Given the description of an element on the screen output the (x, y) to click on. 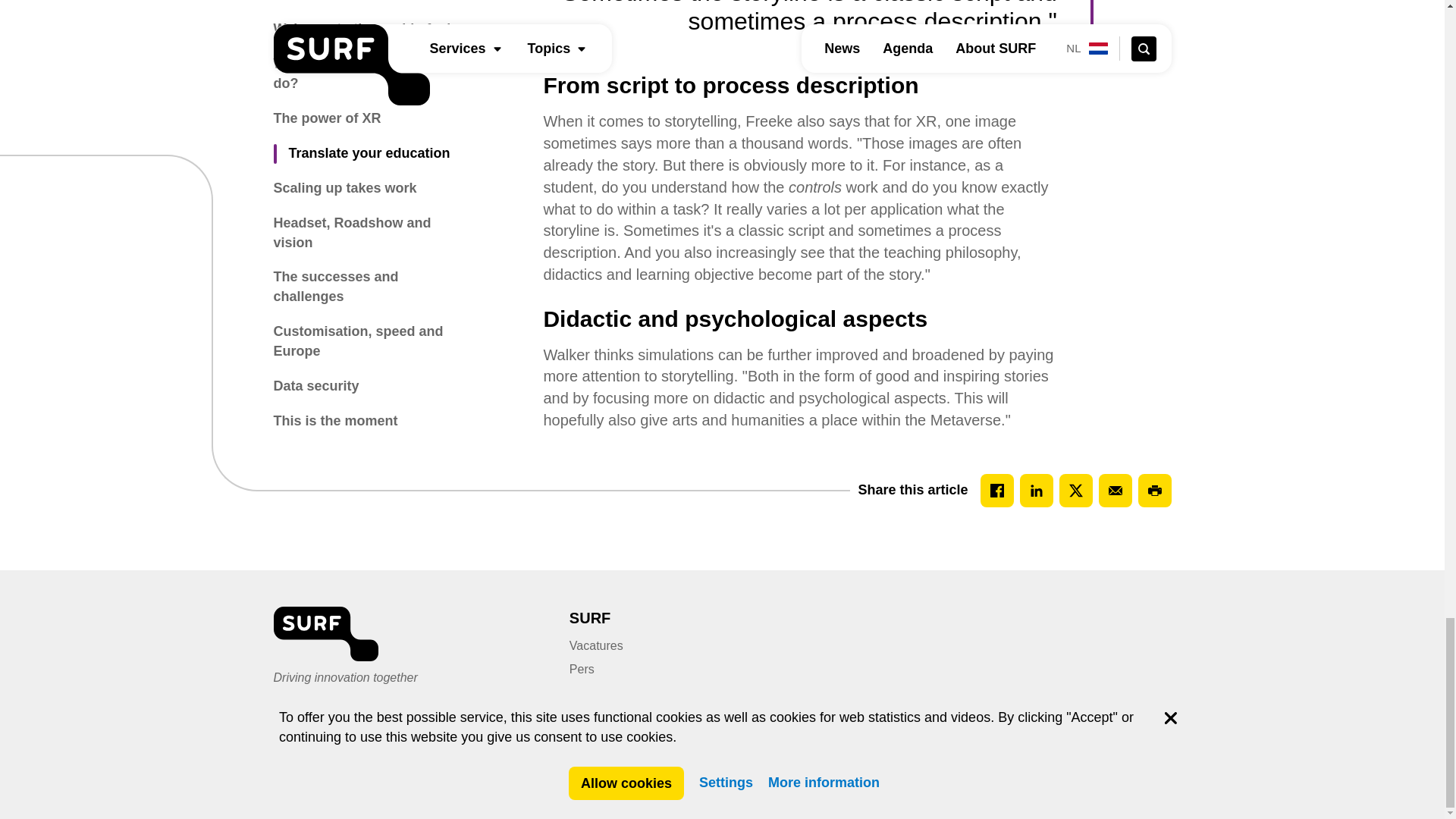
Linkedin (1035, 490)
Gedragscode SURF (1050, 794)
Facebook (996, 490)
Email (1114, 490)
Twitter (1075, 490)
SURF vacatures (596, 645)
Print (1153, 490)
